Given the description of an element on the screen output the (x, y) to click on. 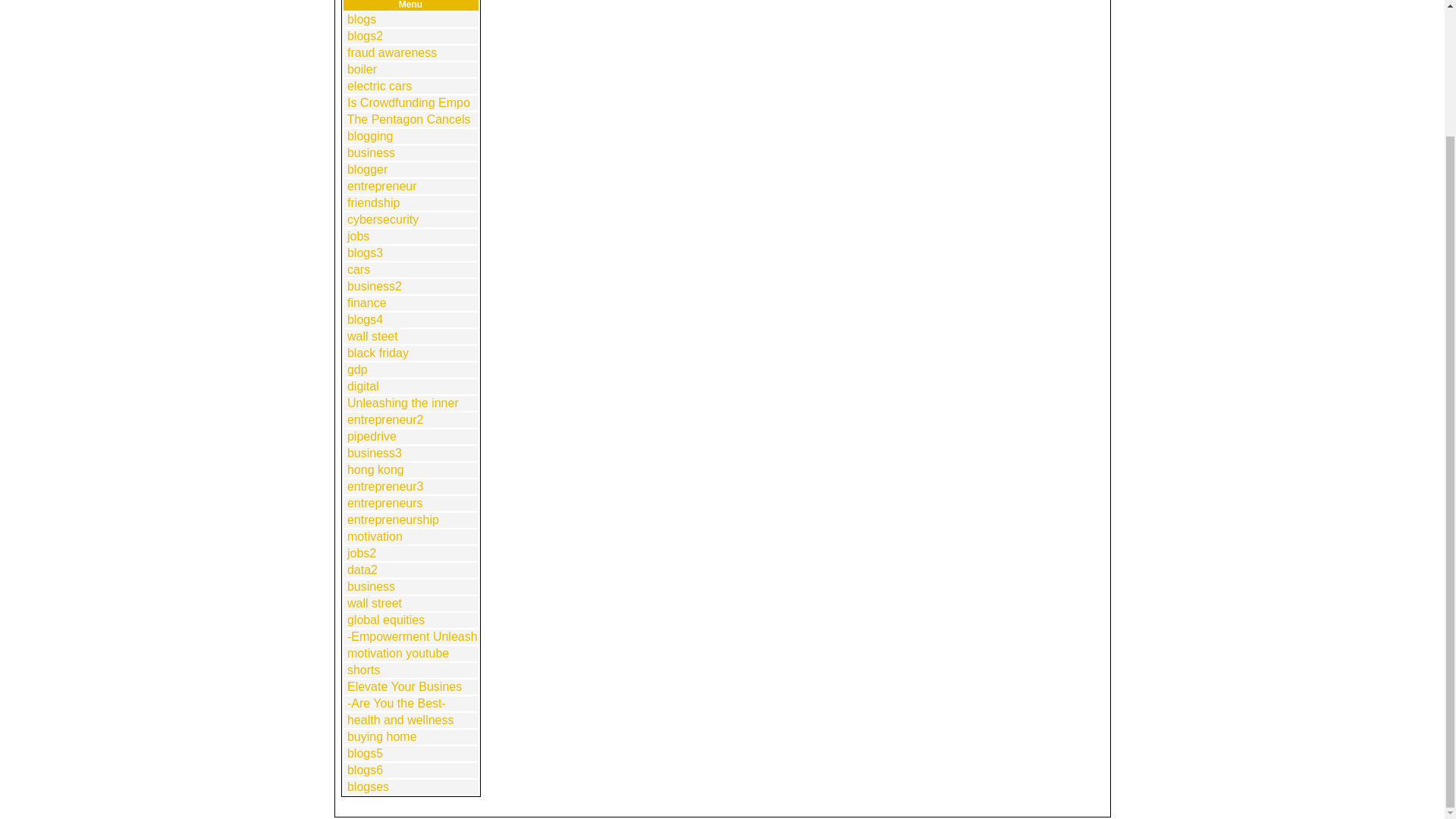
hong kong (375, 469)
cars (358, 269)
motivation (375, 535)
entrepreneur3 (385, 486)
blogging (370, 135)
gdp (357, 369)
blogs3 (364, 252)
jobs2 (361, 553)
business2 (374, 286)
-Empowerment Unleash (412, 635)
